Given the description of an element on the screen output the (x, y) to click on. 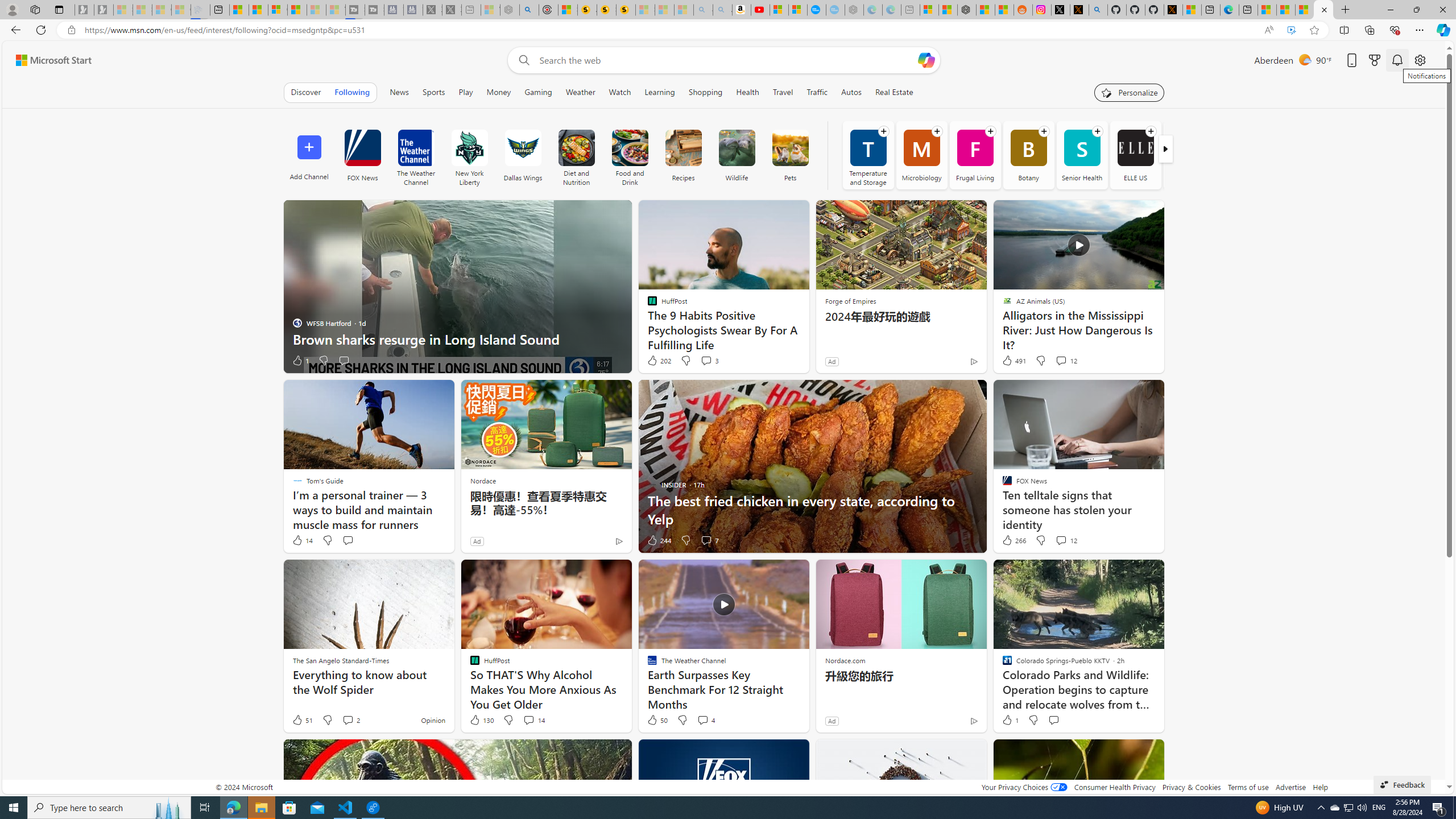
Microbiology (921, 155)
Shopping (705, 92)
Autos (851, 92)
Forge of Empires (850, 300)
Skip to footer (46, 59)
Your Privacy Choices (1024, 786)
amazon - Search - Sleeping (702, 9)
View comments 4 Comment (703, 719)
View comments 3 Comment (705, 360)
Pets (790, 155)
